Given the description of an element on the screen output the (x, y) to click on. 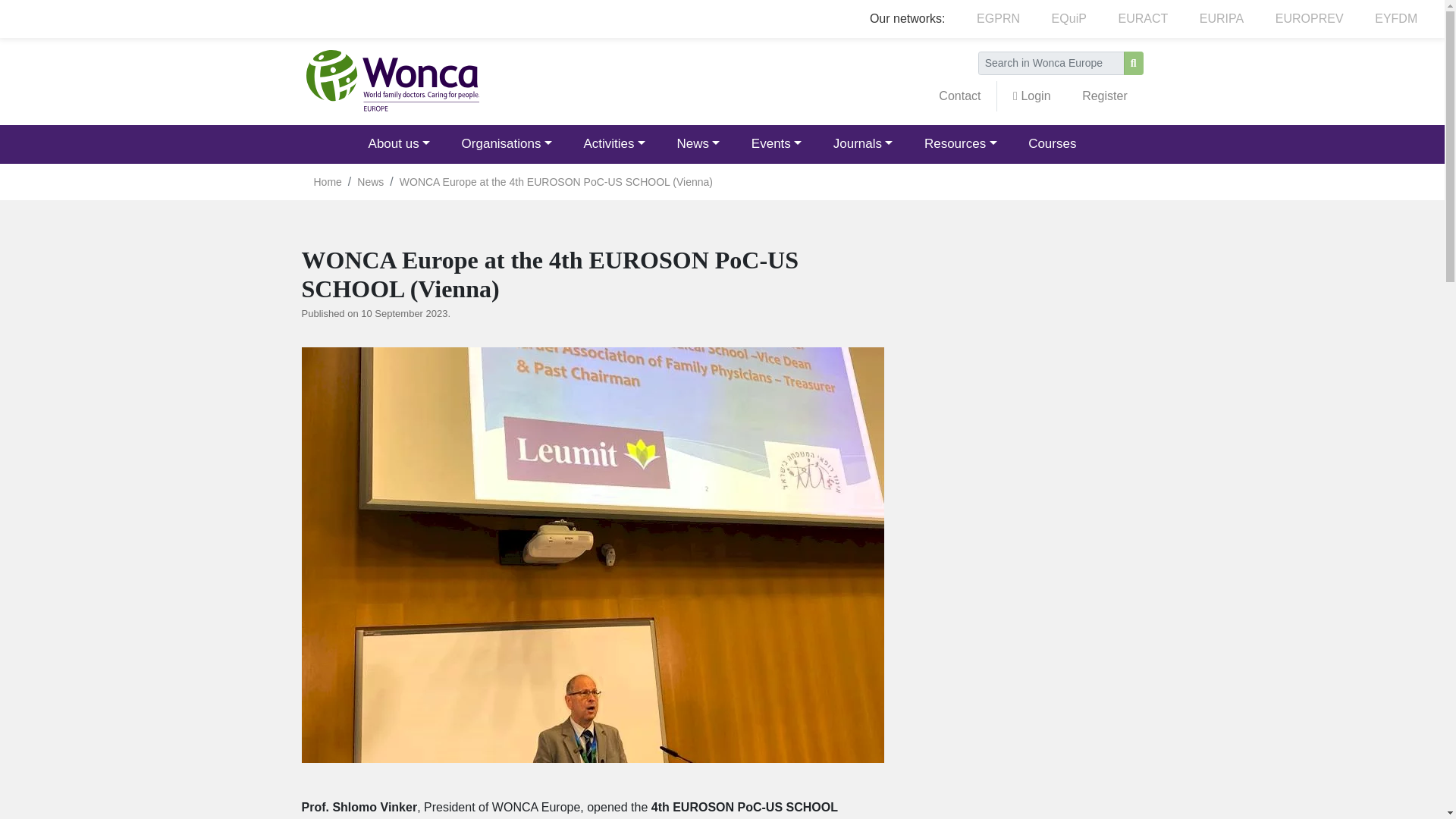
EGPRN (997, 19)
About us (398, 144)
EURIPA (1221, 19)
EQuiP (1068, 19)
Contact (960, 96)
Register (1103, 96)
European General Practice Research Network (997, 19)
Home (390, 79)
European Young Family Doctors Movement (1395, 19)
European Rural and Isolated Practitioners Association (1221, 19)
Home (390, 81)
European Academy of Teachers in General Practice (1142, 19)
EYFDM (1395, 19)
EUROPREV (1308, 19)
